Given the description of an element on the screen output the (x, y) to click on. 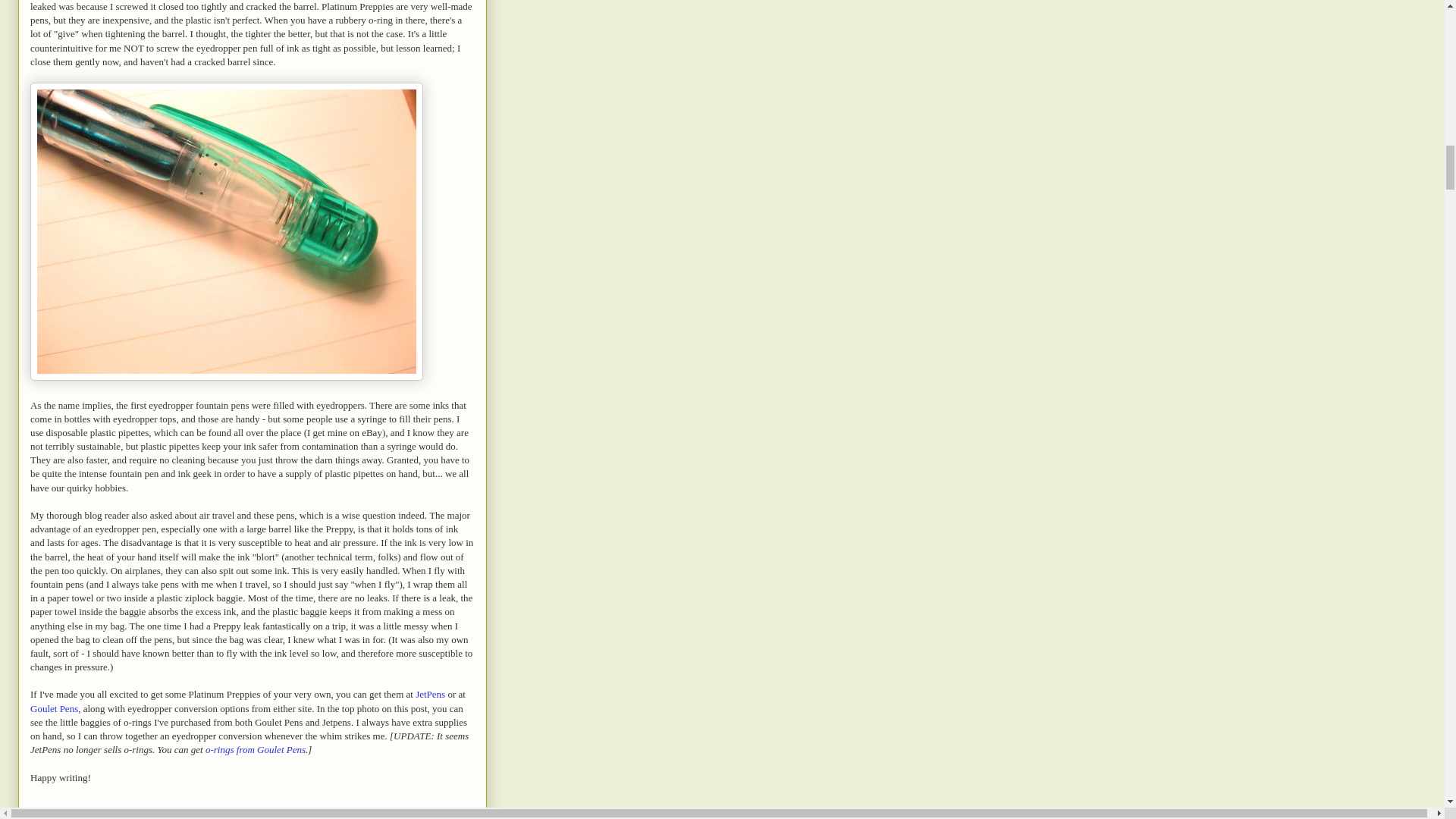
Platinum Preppy pen cap, posted by Missive Maven, on Flickr (226, 377)
Goulet Pens (54, 708)
JetPens (429, 694)
permanent link (57, 818)
o-rings from Goulet Pens (255, 749)
